Given the description of an element on the screen output the (x, y) to click on. 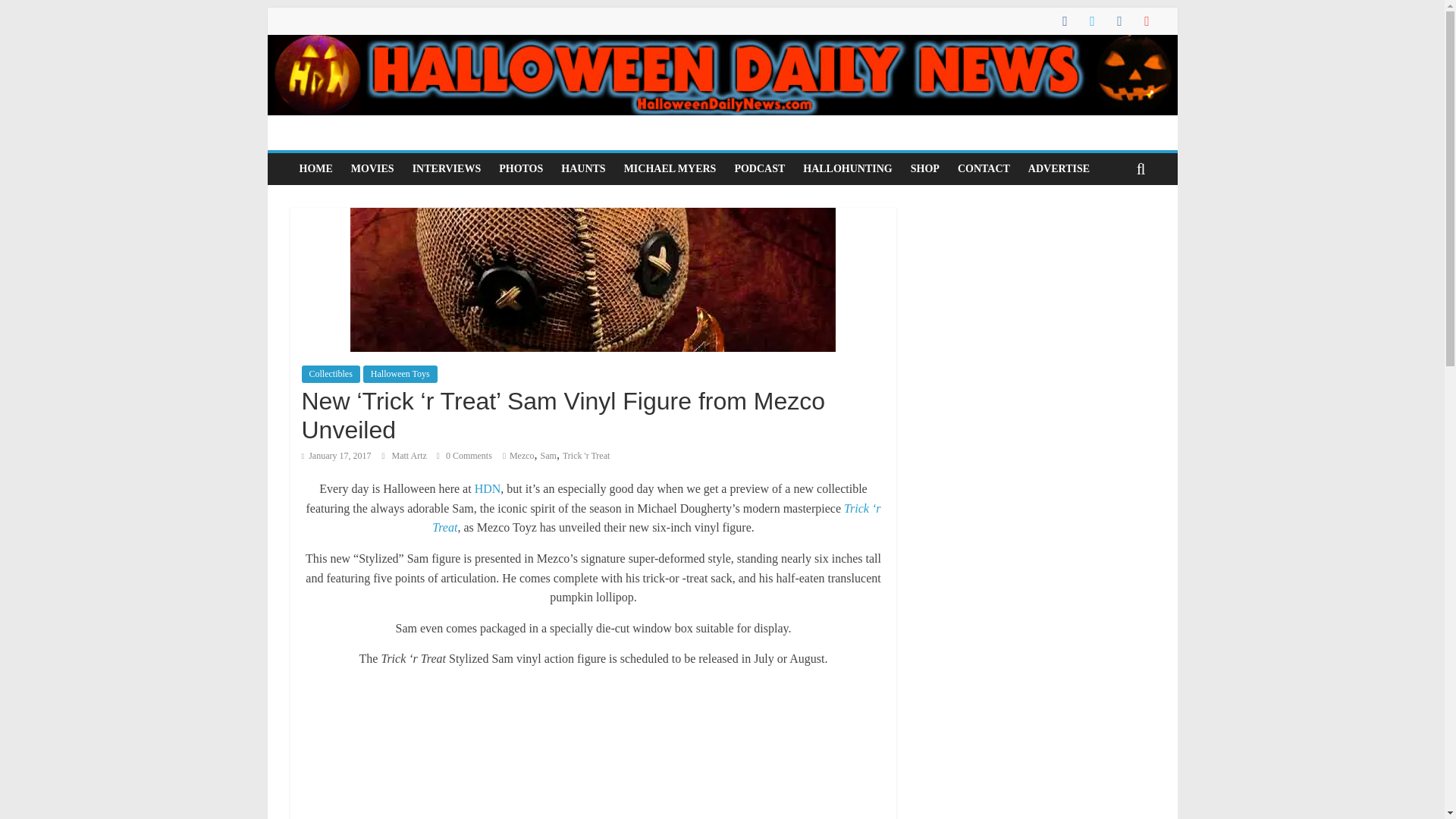
YouTube (1054, 229)
MOVIES (372, 169)
Matt Artz (410, 455)
SHOP (925, 169)
Twitter (936, 229)
Mezco (521, 455)
CONTACT (984, 169)
HAUNTS (582, 169)
Halloween Daily News (721, 43)
Sam (548, 455)
0 Comments (464, 455)
PODCAST (759, 169)
PHOTOS (520, 169)
Collectibles (330, 373)
